Given the description of an element on the screen output the (x, y) to click on. 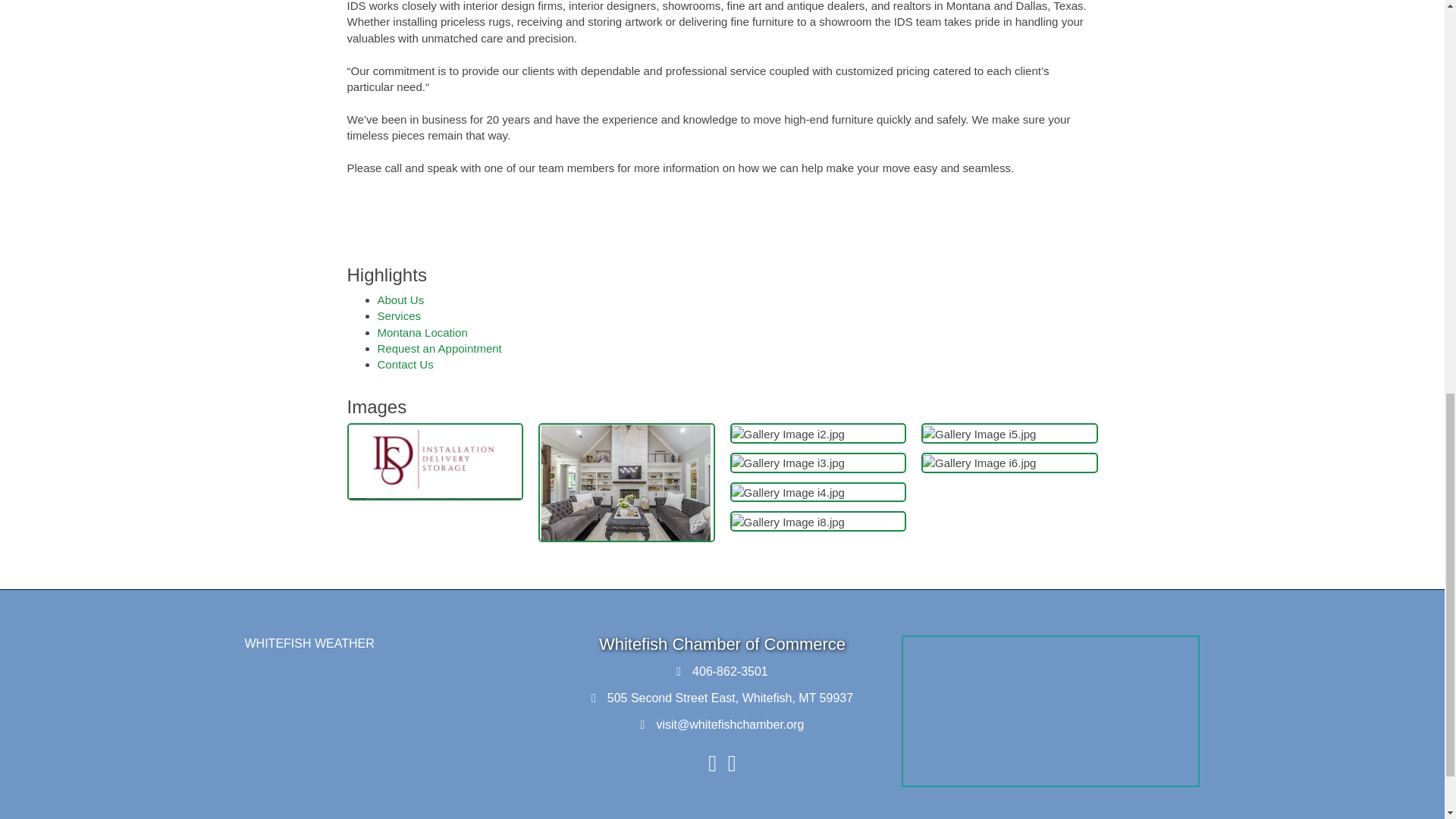
Gallery Image i1.jpg (626, 482)
Gallery Image ids.jpg (435, 461)
Gallery Image i2.jpg (787, 433)
Gallery Image i4.jpg (787, 492)
Gallery Image i3.jpg (787, 462)
